Given the description of an element on the screen output the (x, y) to click on. 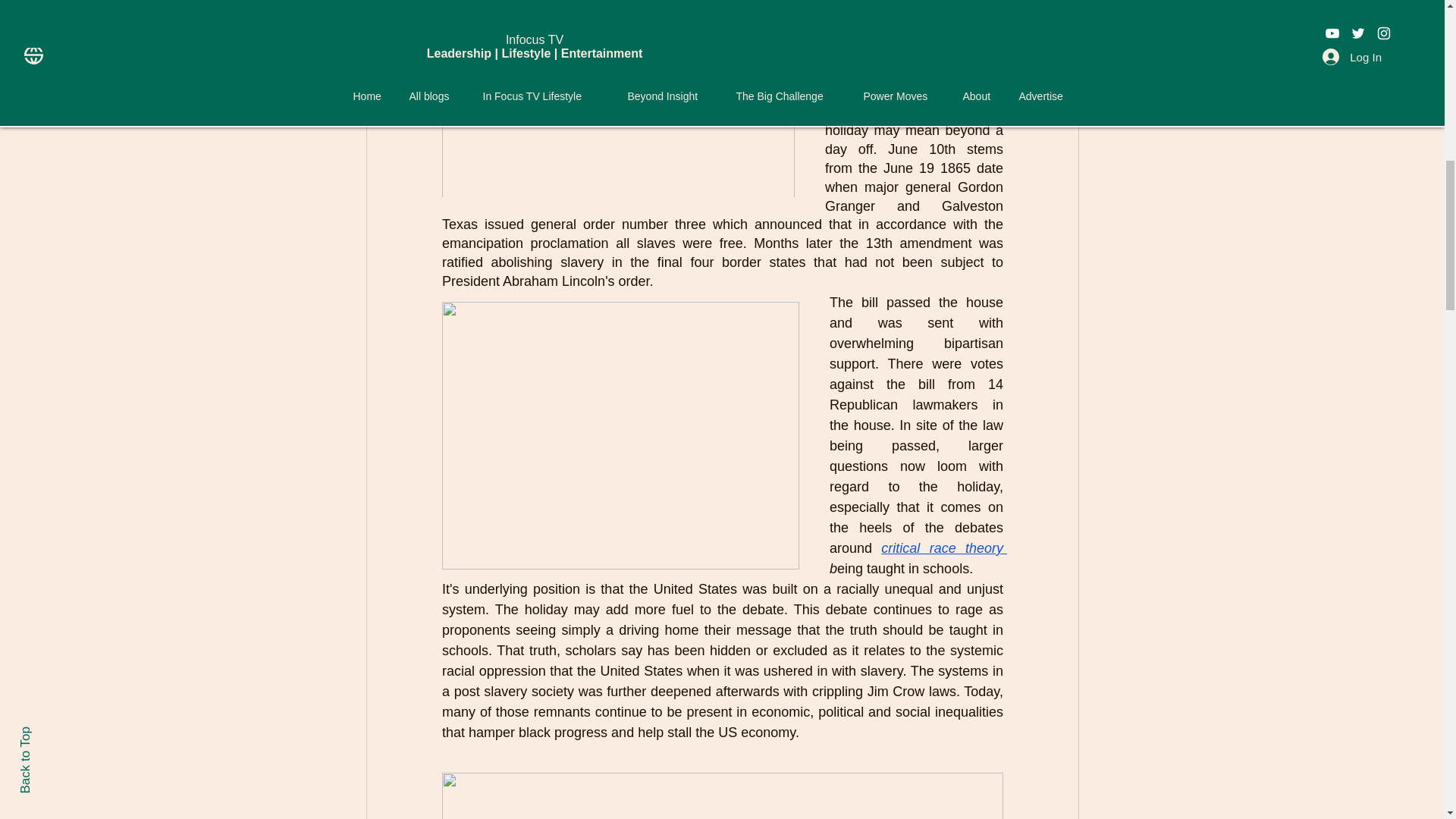
critical race theory  (943, 548)
